Given the description of an element on the screen output the (x, y) to click on. 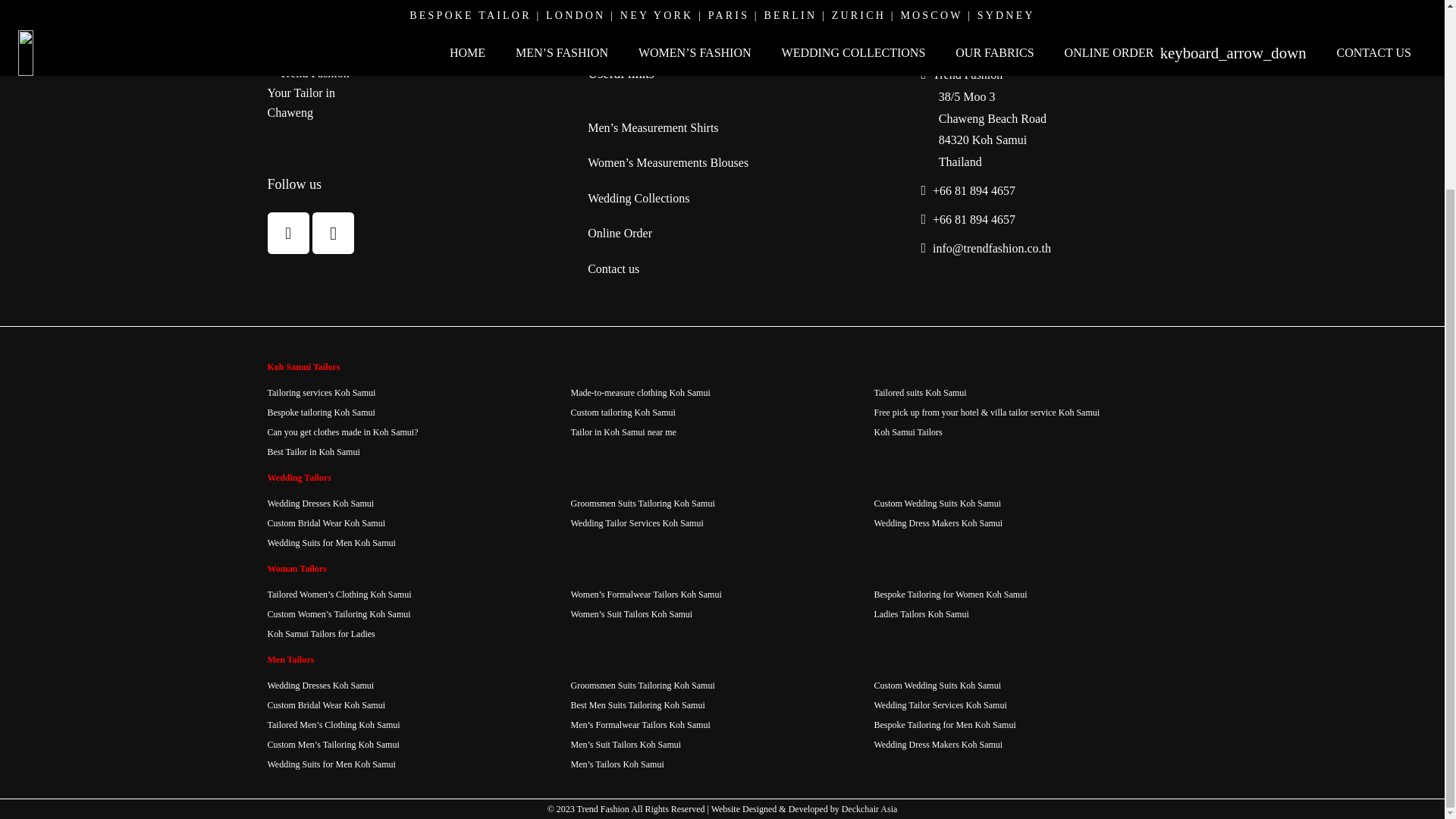
Custom Bridal Wear Koh Samui (325, 522)
Tailoring services Koh Samui (320, 392)
Koh Samui Tailors (907, 431)
Online Order (620, 232)
Custom tailoring Koh Samui (622, 412)
Best Tailor in Koh Samui (312, 451)
Wedding Dress Makers Koh Samui (938, 522)
Trend Fashion - Your Tailor in Chaweng (323, 97)
Wedding Dresses Koh Samui (320, 502)
Groomsmen Suits Tailoring Koh Samui (642, 502)
